Given the description of an element on the screen output the (x, y) to click on. 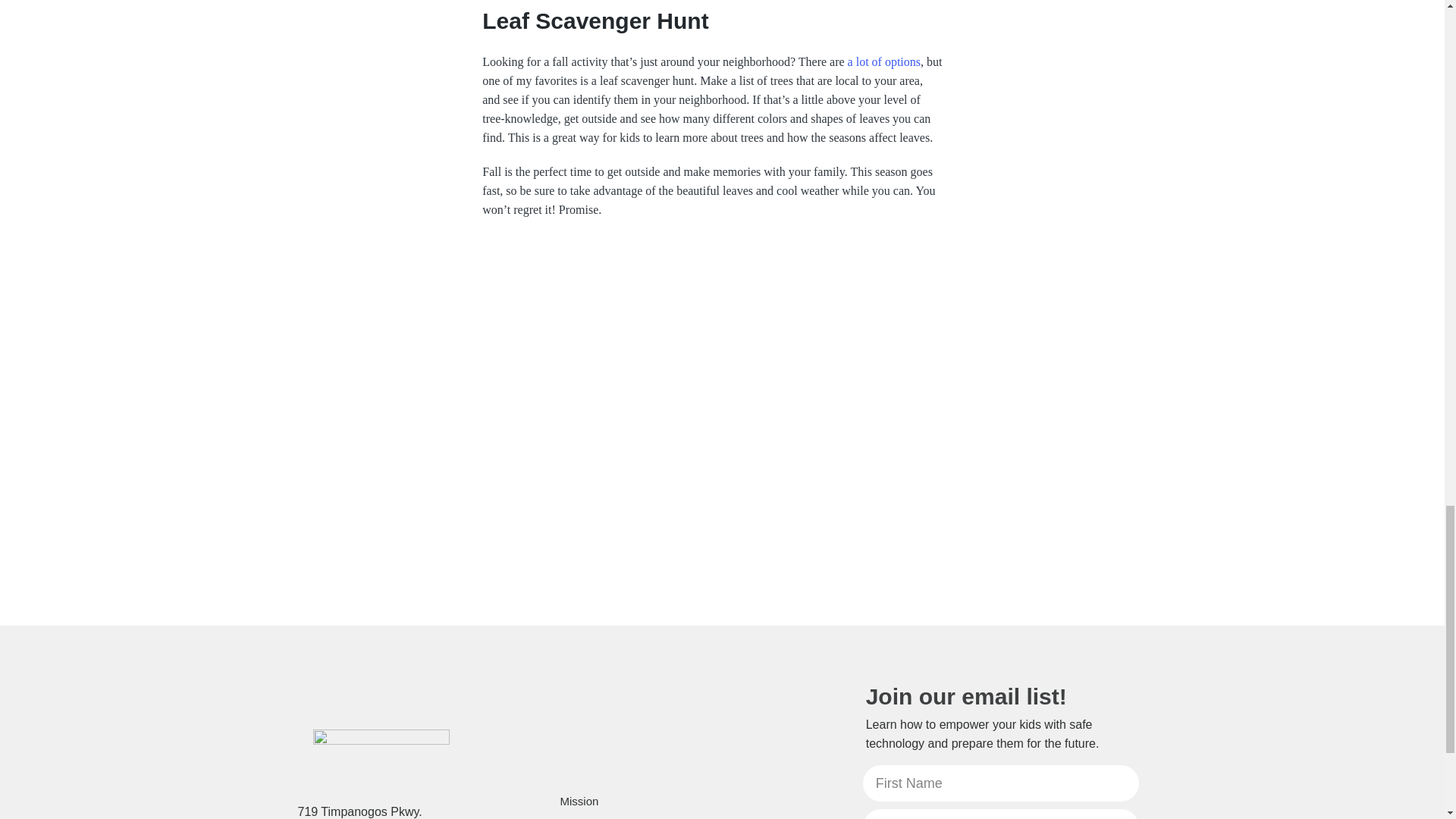
Facebook (781, 814)
Mission (578, 800)
a lot of options (883, 61)
